Given the description of an element on the screen output the (x, y) to click on. 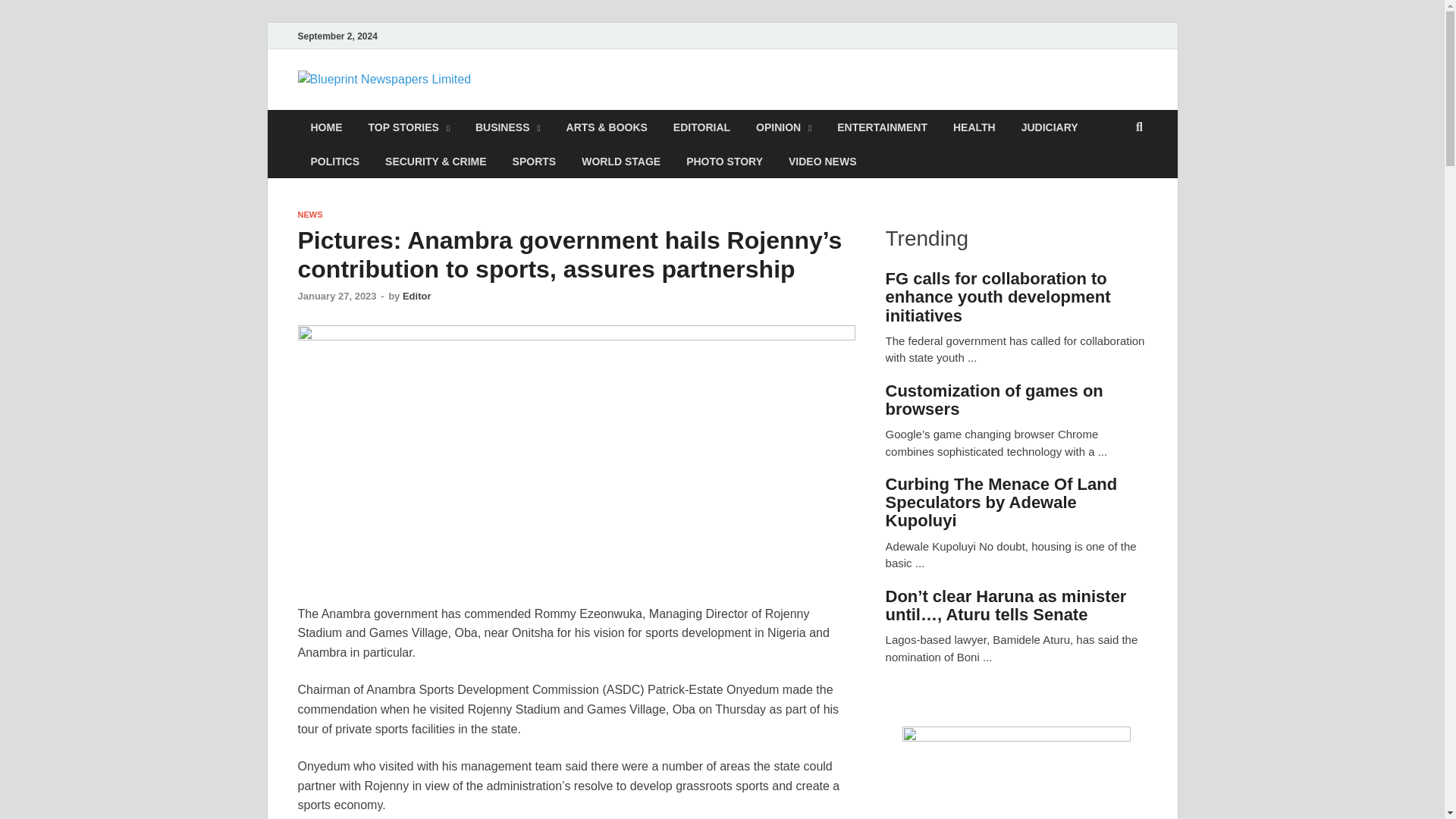
OPINION (783, 126)
ENTERTAINMENT (882, 126)
HOME (326, 126)
Blueprint Newspapers Limited (678, 100)
TOP STORIES (408, 126)
BUSINESS (508, 126)
EDITORIAL (701, 126)
